Given the description of an element on the screen output the (x, y) to click on. 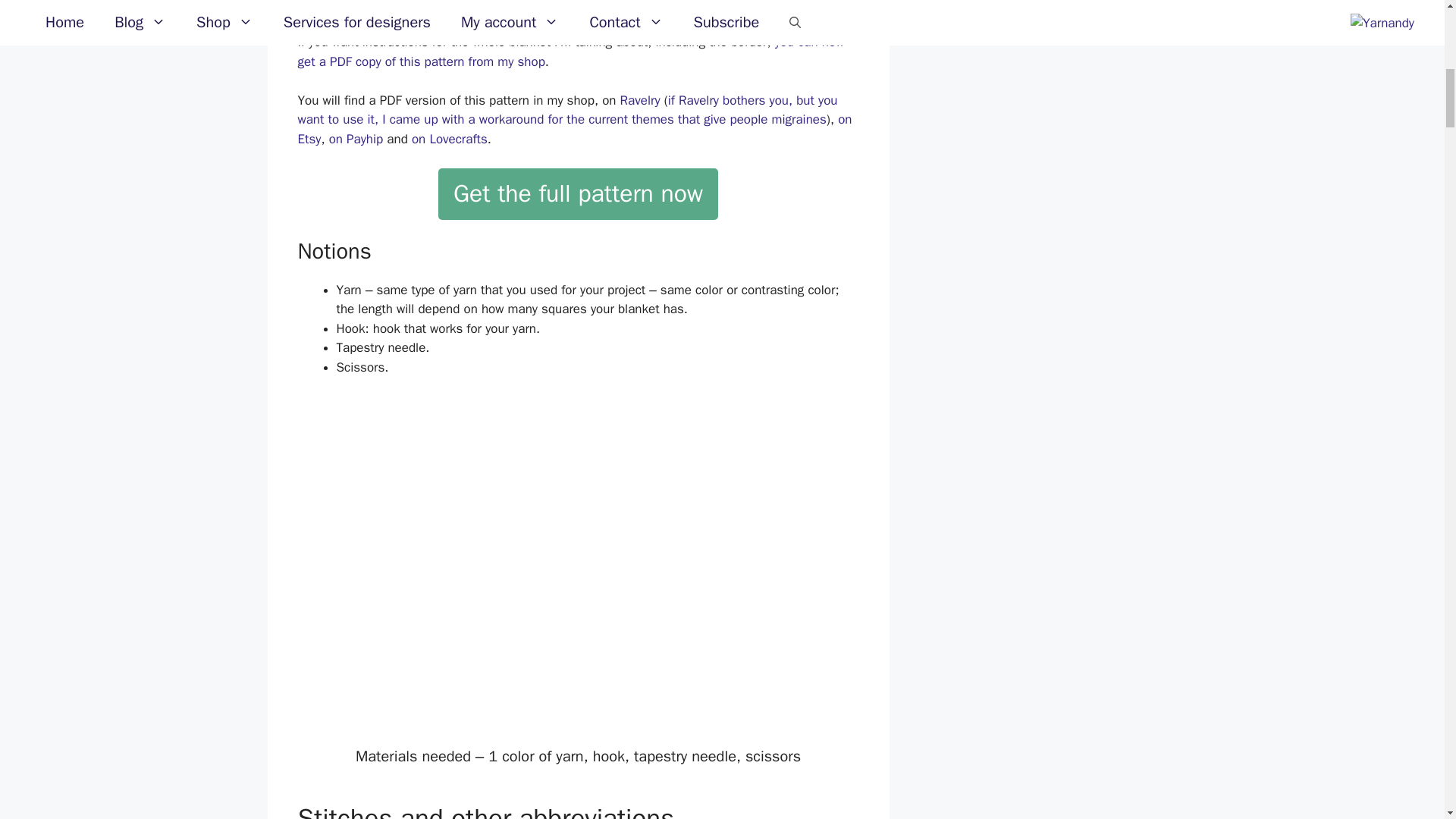
you can now get a PDF copy of this pattern from my shop (570, 51)
Ravelry (640, 100)
